Given the description of an element on the screen output the (x, y) to click on. 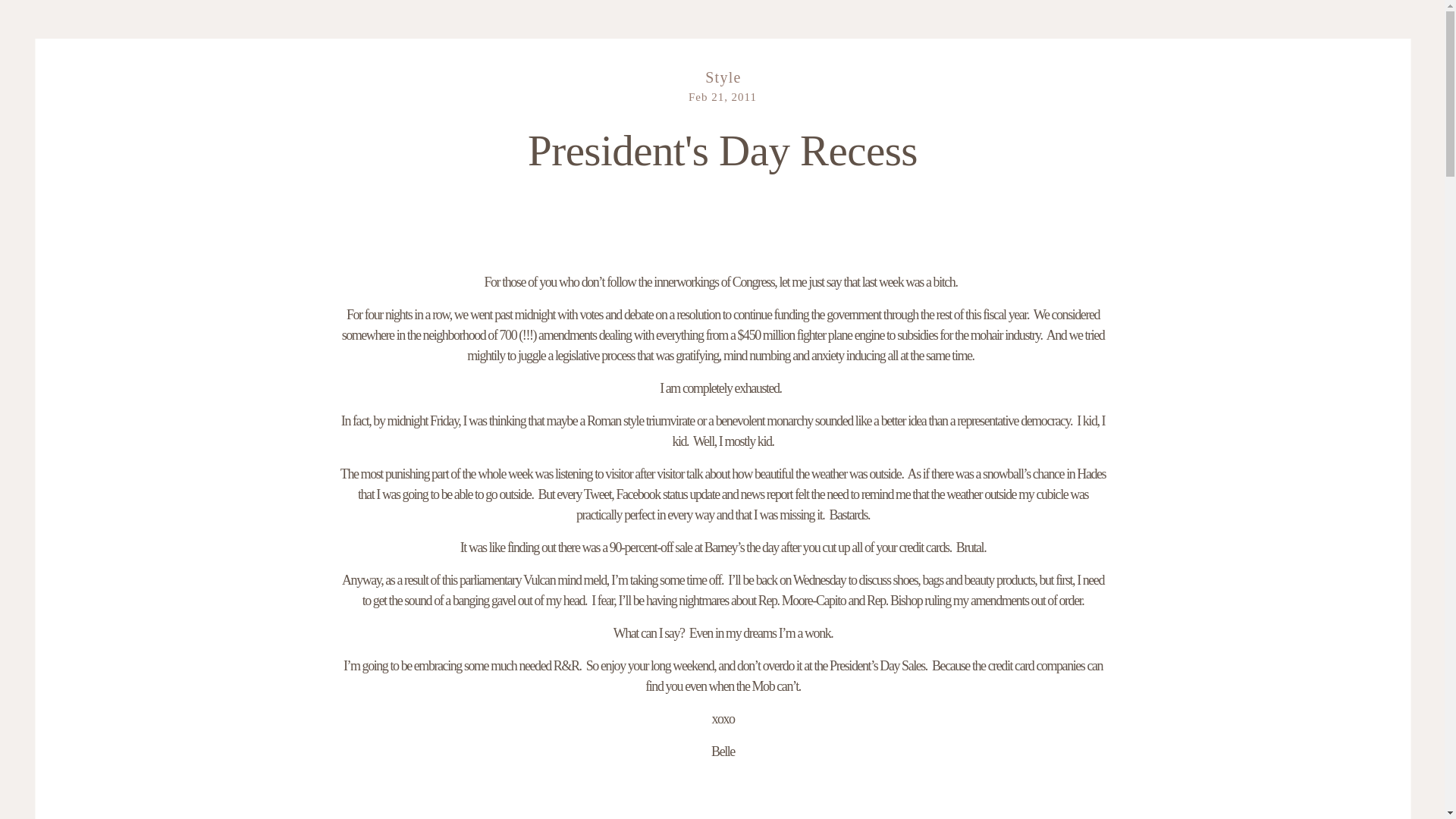
Style (722, 76)
CONTACT (147, 27)
SUBSCRIBE (1308, 26)
ABOUT (84, 27)
